Given the description of an element on the screen output the (x, y) to click on. 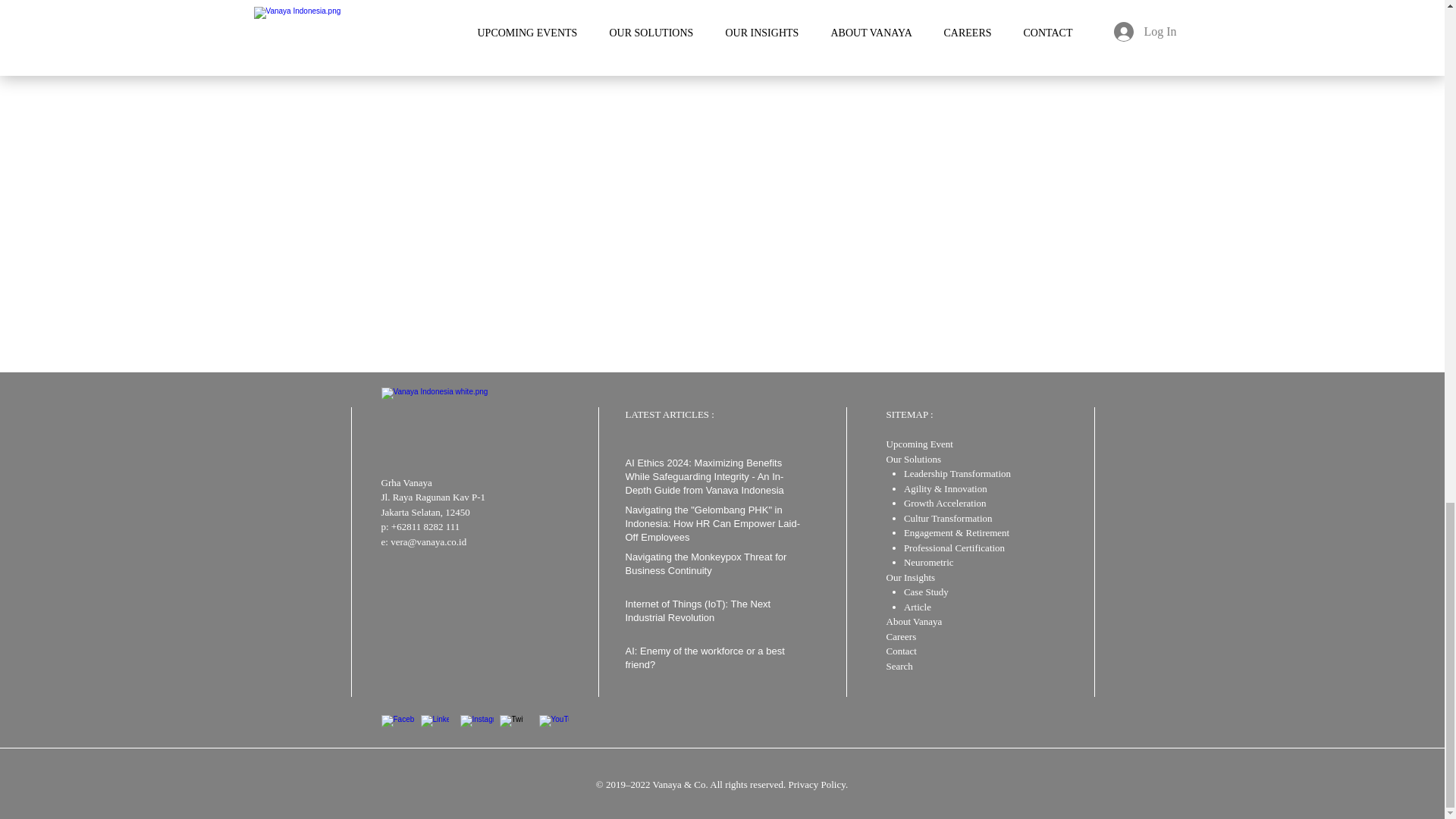
Article (917, 605)
Cultur Transformation (948, 518)
Contact (900, 650)
Neurometric (928, 562)
Navigating the Monkeypox Threat for Business Continuity (713, 566)
AI: Enemy of the workforce or a best friend? (713, 661)
Careers (900, 636)
About Vanaya (913, 621)
